Given the description of an element on the screen output the (x, y) to click on. 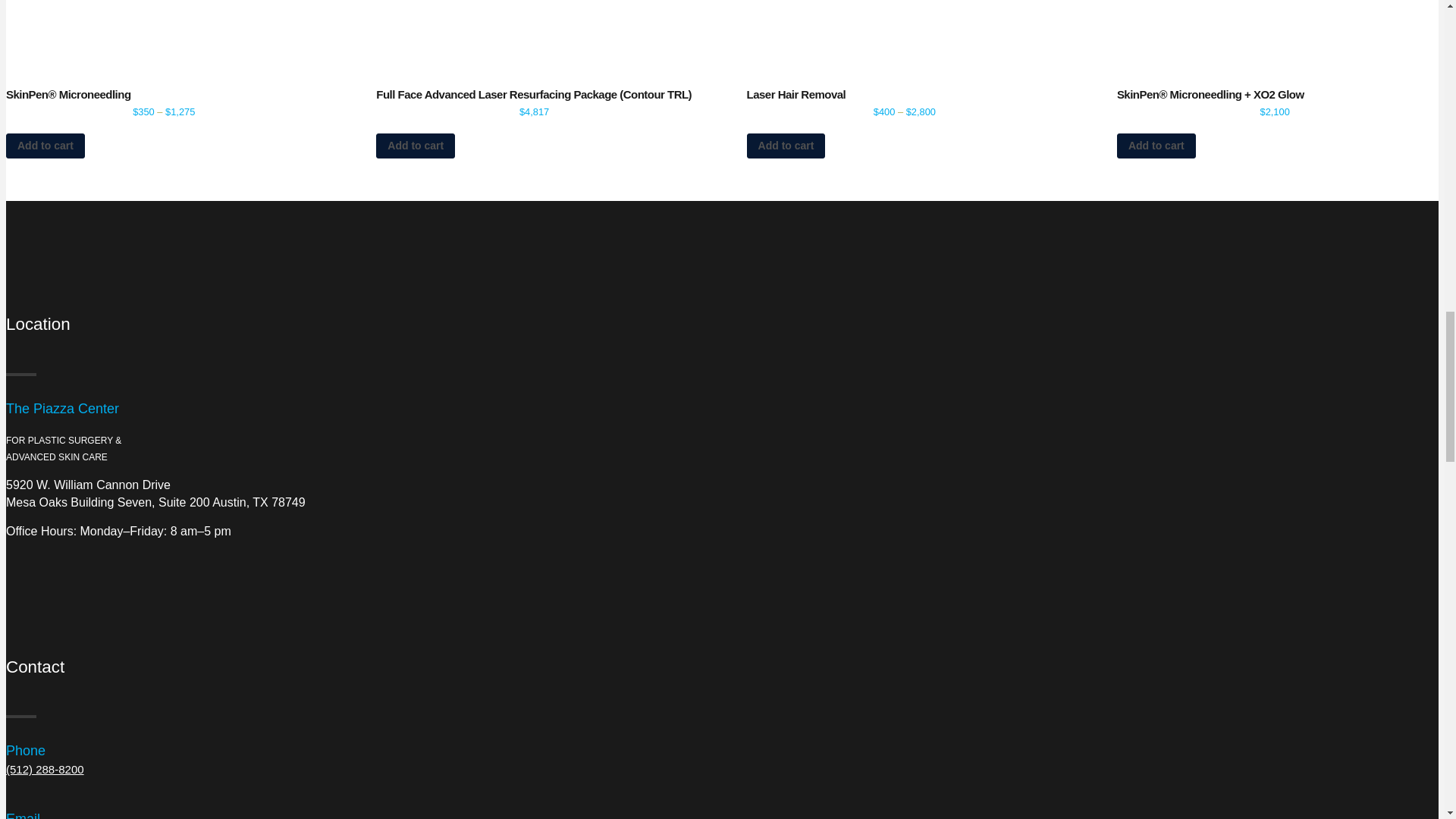
Add to cart (414, 145)
Add to cart (44, 145)
Add to cart (785, 145)
Add to cart (1155, 145)
